Given the description of an element on the screen output the (x, y) to click on. 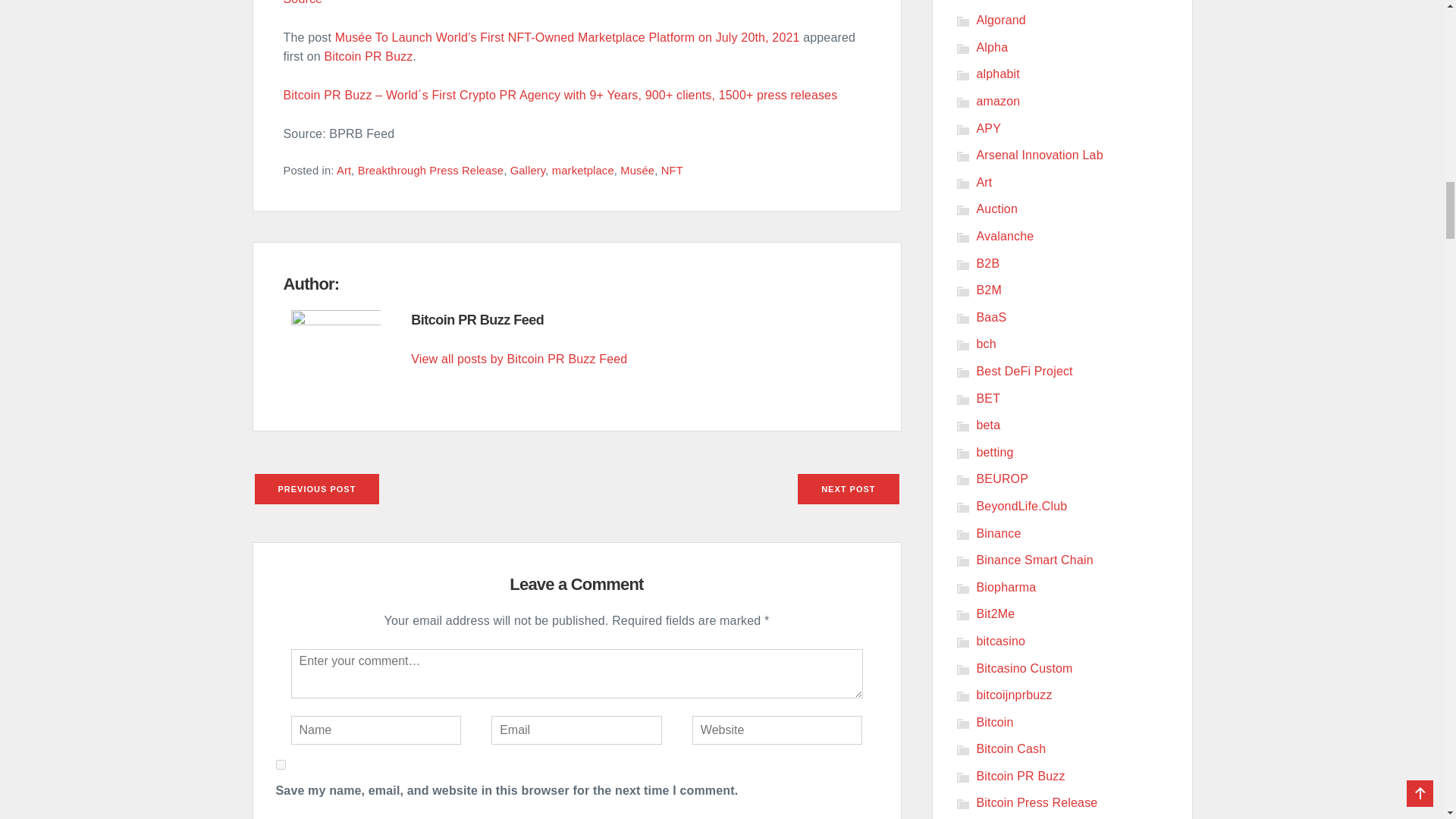
Art (343, 170)
marketplace (582, 170)
PREVIOUS POST (317, 487)
NFT (671, 170)
Bitcoin PR Buzz (367, 56)
yes (280, 764)
Source (303, 2)
Breakthrough Press Release (430, 170)
Gallery (528, 170)
View all posts by Bitcoin PR Buzz Feed (518, 358)
